Given the description of an element on the screen output the (x, y) to click on. 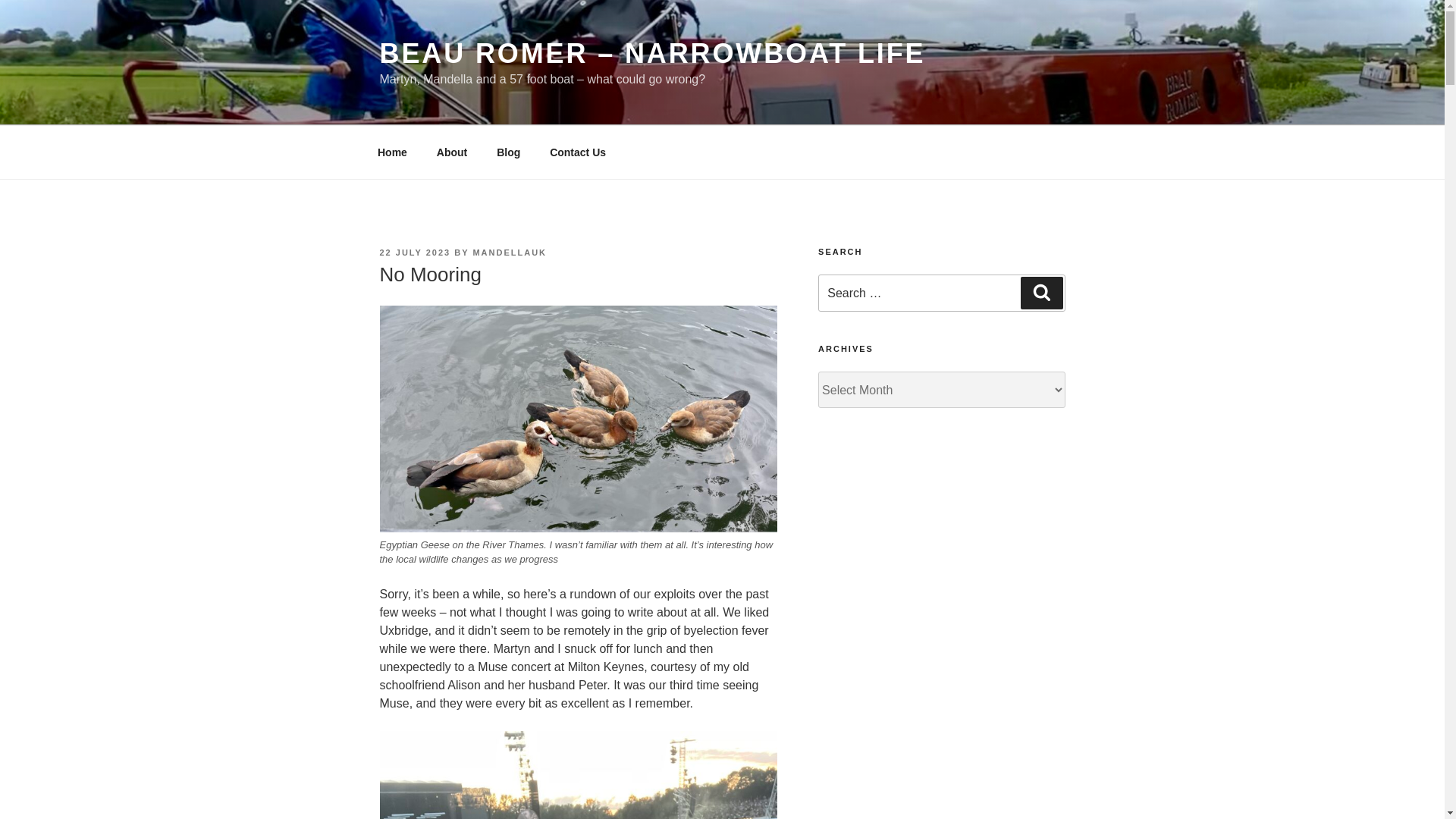
About (451, 151)
Blog (508, 151)
Home (392, 151)
22 JULY 2023 (413, 252)
MANDELLAUK (509, 252)
Search (1041, 292)
Contact Us (578, 151)
